Given the description of an element on the screen output the (x, y) to click on. 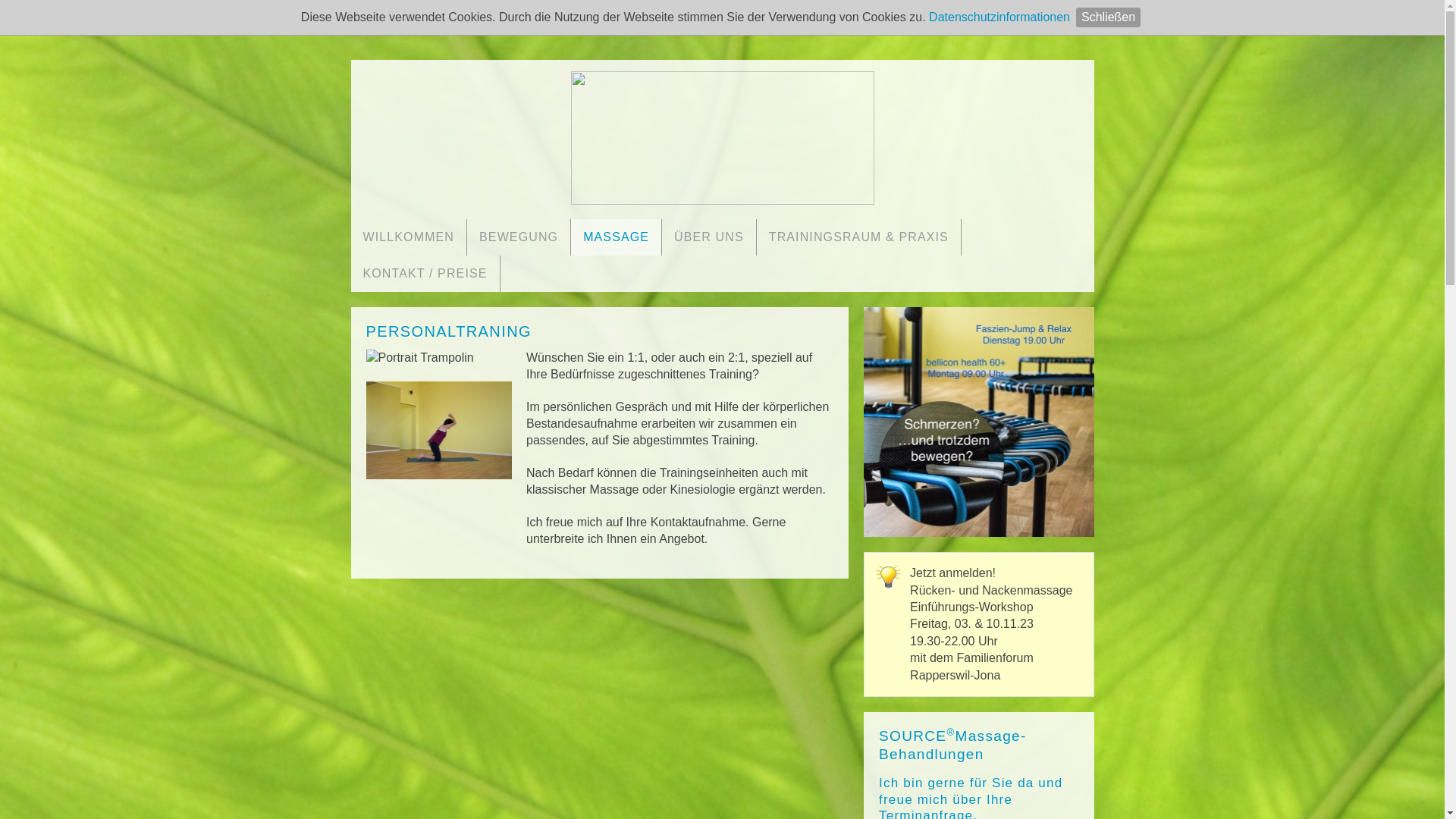
MASSAGE Element type: text (616, 237)
Zur Startseite Element type: hover (721, 134)
KONTAKT / PREISE Element type: text (424, 273)
Yoga auf dem Stuhl Element type: hover (978, 421)
TRAININGSRAUM & PRAXIS Element type: text (858, 237)
Portrait Trampolin Element type: hover (419, 357)
WILLKOMMEN Element type: text (408, 237)
BEWEGUNG Element type: text (518, 237)
Datenschutzinformationen Element type: text (999, 16)
